Given the description of an element on the screen output the (x, y) to click on. 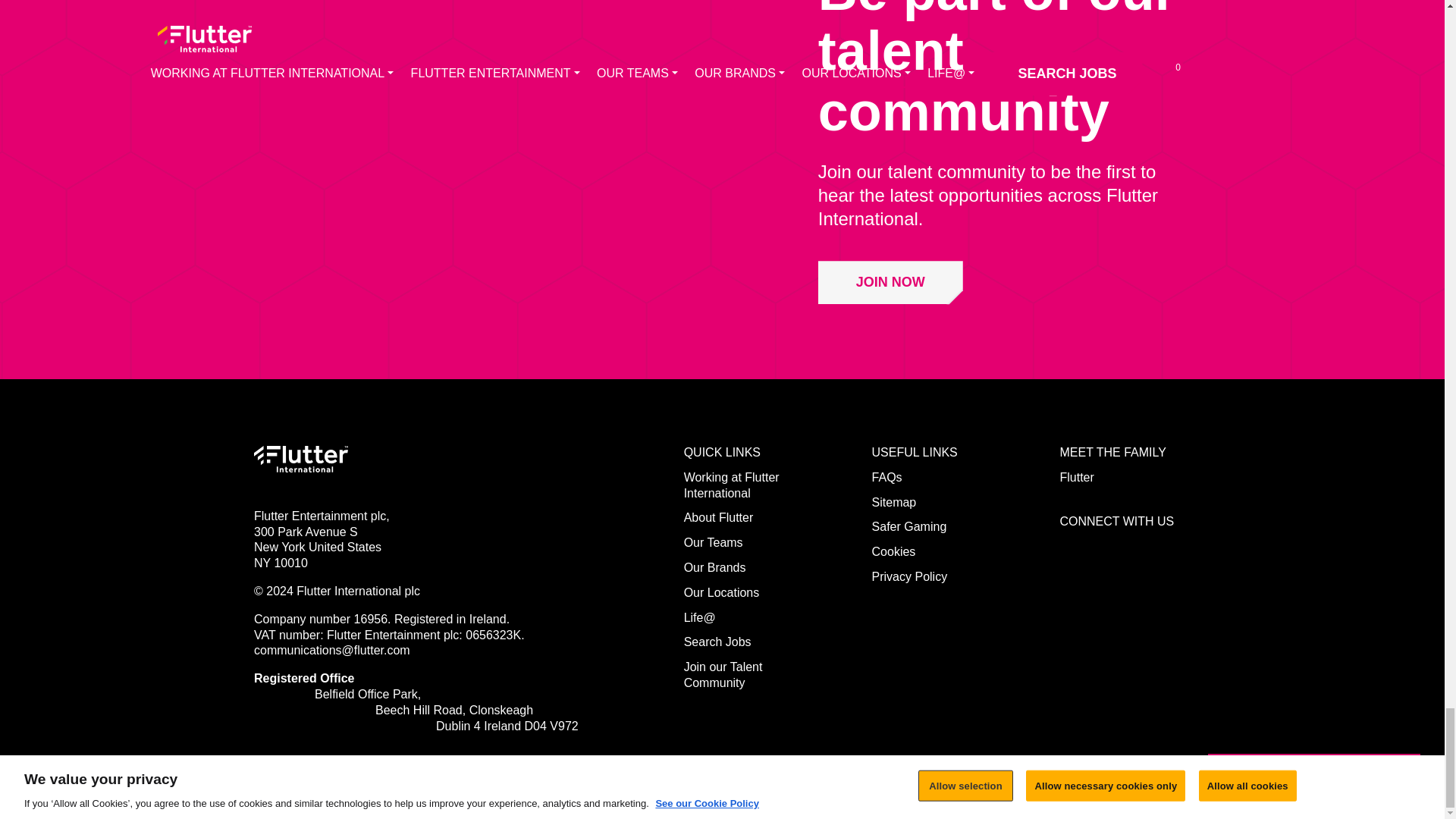
youtube (1168, 544)
linkedin (1135, 544)
facebook (1068, 544)
twitter (1101, 544)
